Given the description of an element on the screen output the (x, y) to click on. 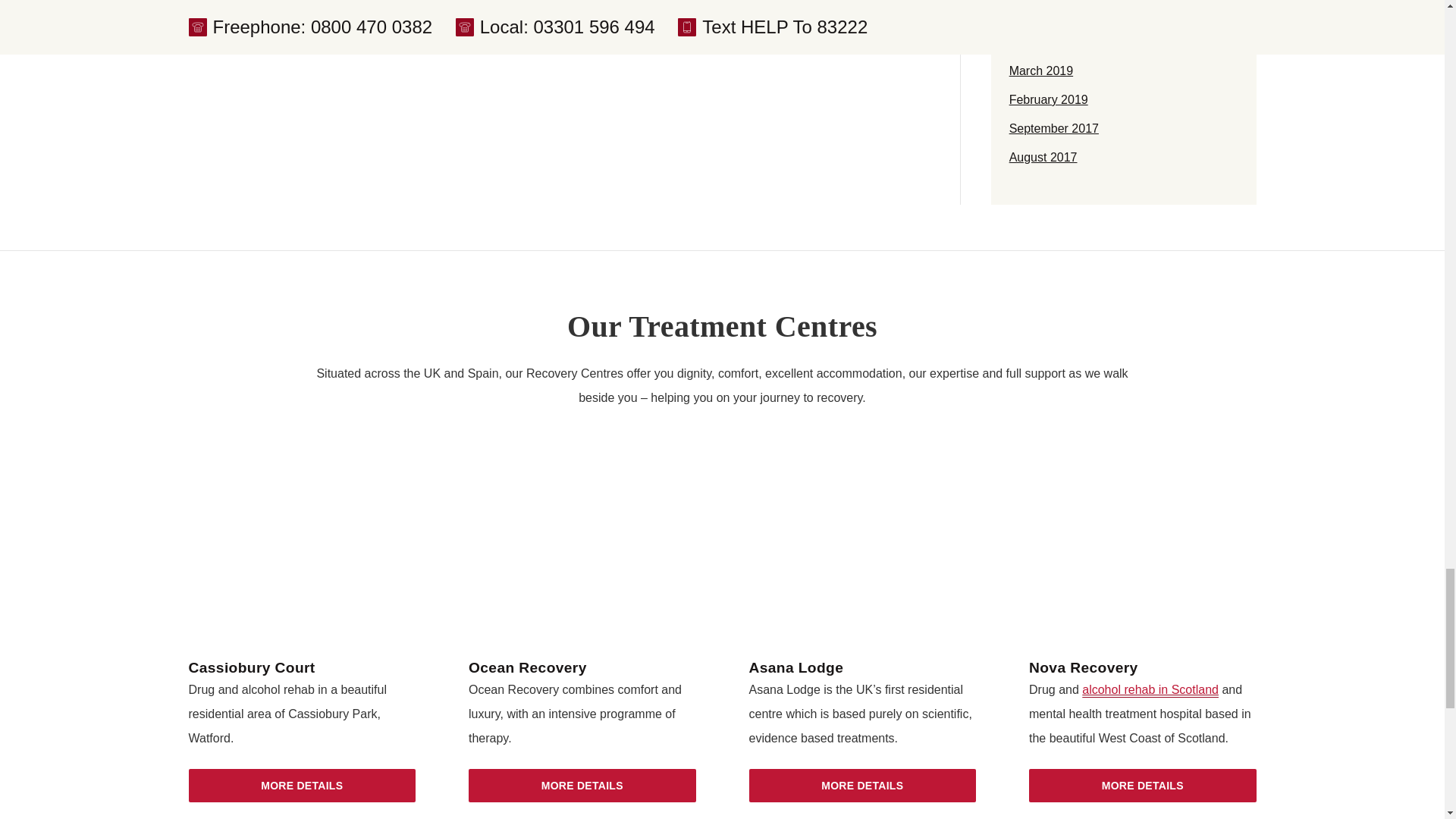
Ocean Recovery (527, 667)
Asana Lodge (796, 667)
Nova Recovery (1083, 667)
View Centre Details (581, 785)
View Centre Details (862, 785)
View Centre Details (300, 785)
Cassiobury Court (250, 667)
View Centre Details (1142, 785)
